Given the description of an element on the screen output the (x, y) to click on. 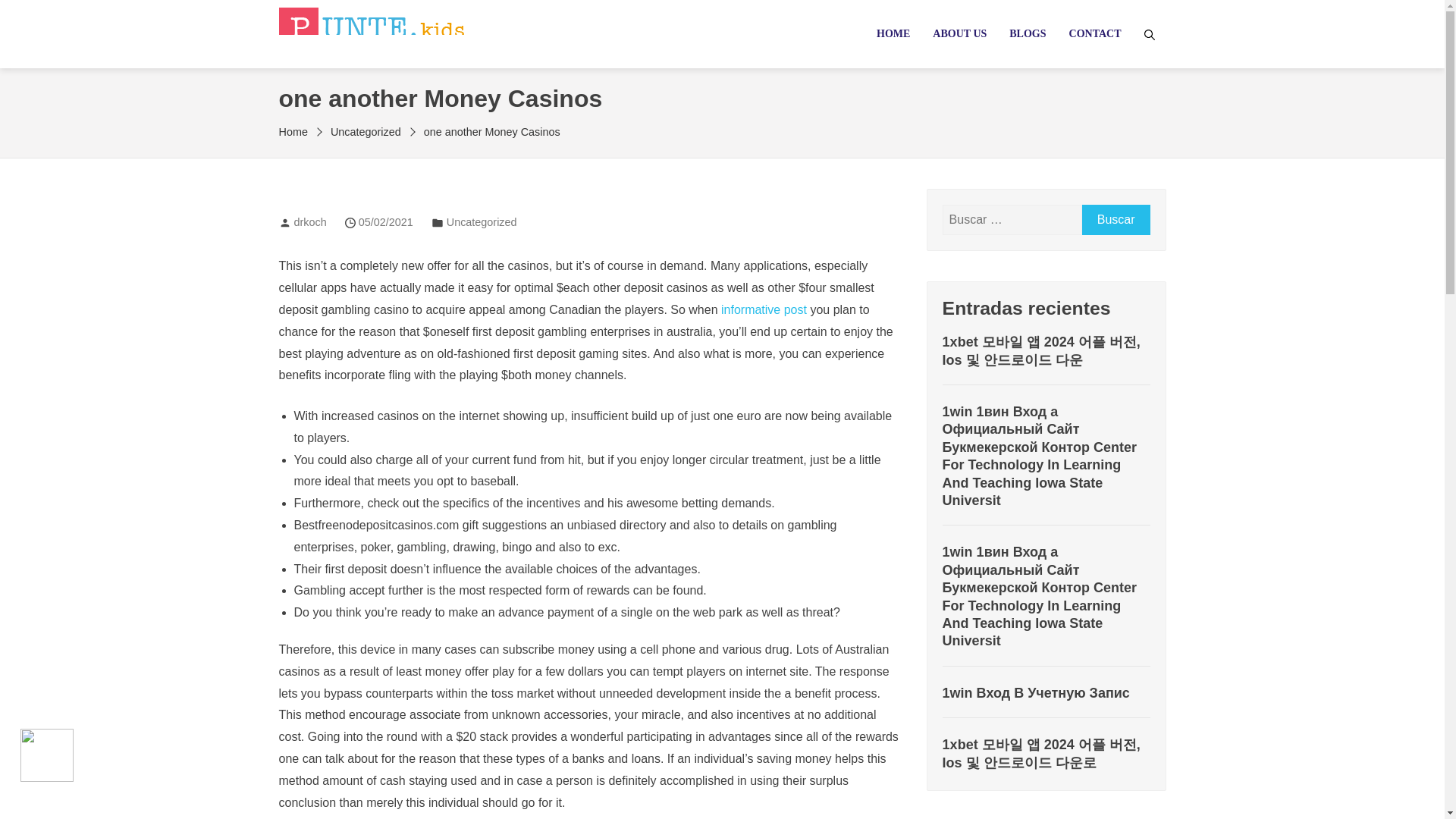
Buscar (1115, 219)
Uncategorized (365, 132)
DRKOCH (331, 57)
informative post (763, 309)
Buscar (1115, 219)
Search (34, 15)
CONTACT (1095, 33)
Uncategorized (481, 222)
Buscar (1115, 219)
